Given the description of an element on the screen output the (x, y) to click on. 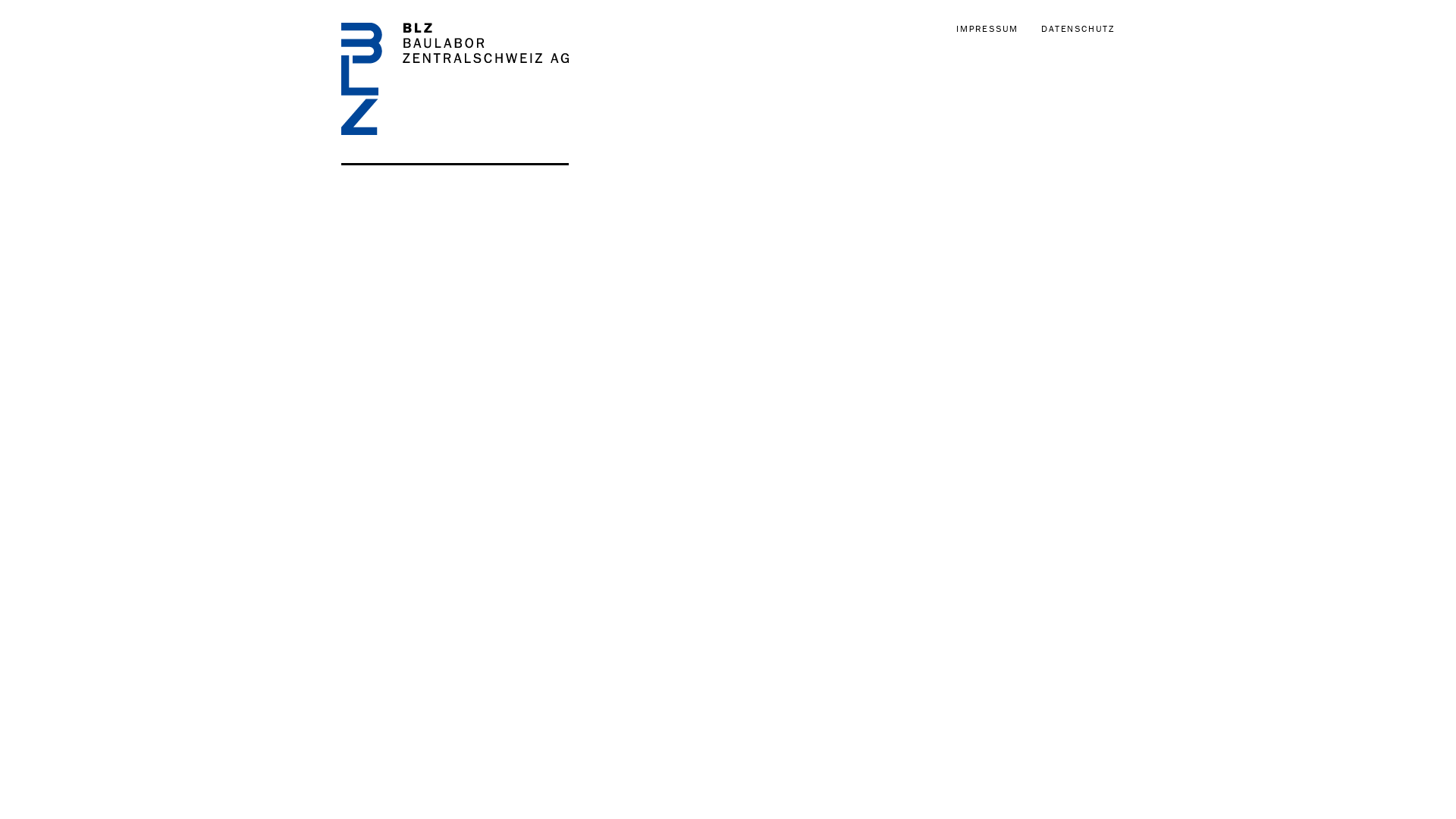
IMPRESSUM Element type: text (987, 28)
DATENSCHUTZ Element type: text (1077, 28)
